Given the description of an element on the screen output the (x, y) to click on. 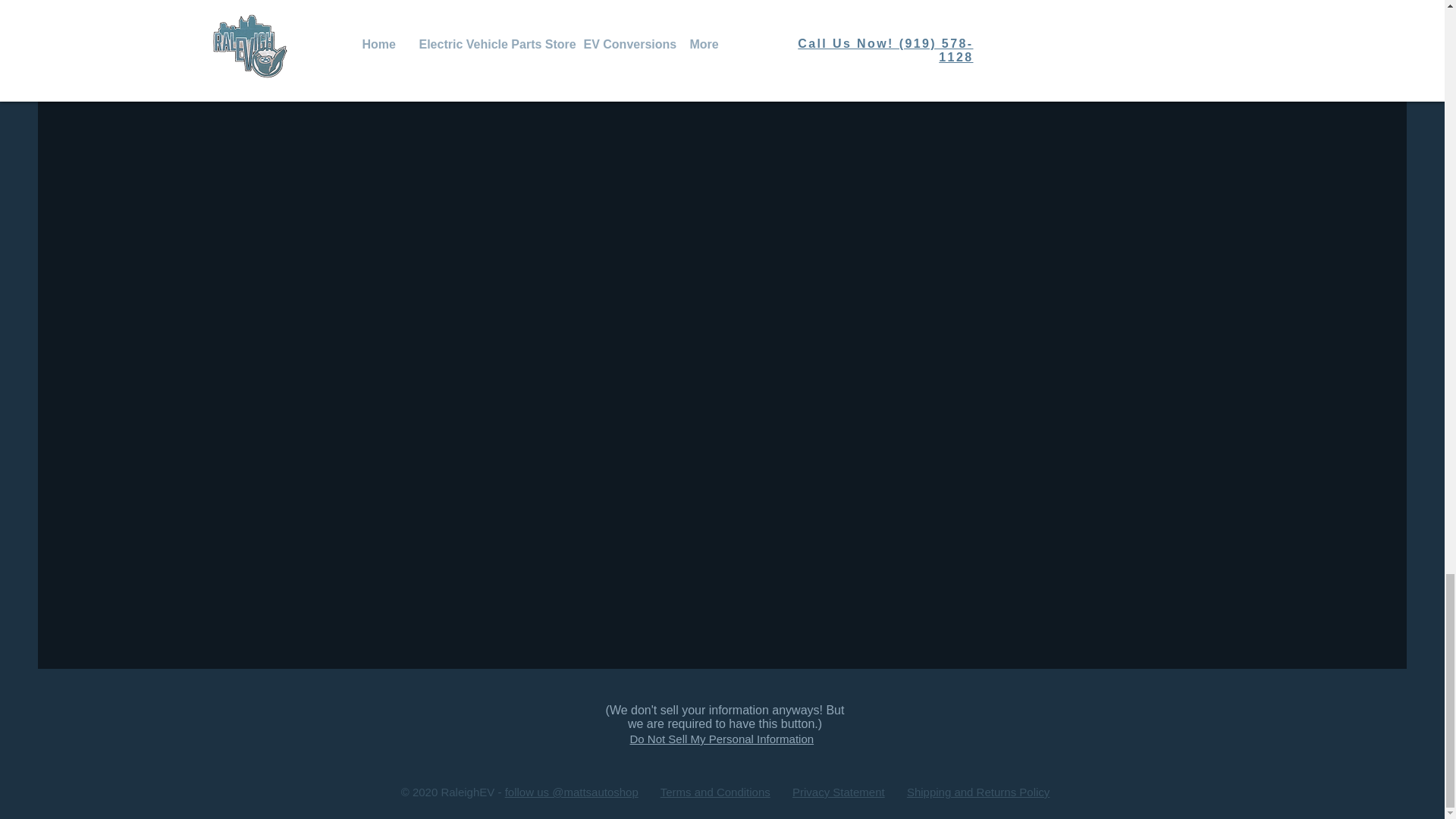
Privacy Statement (838, 791)
Shipping and Returns Policy (978, 791)
Terms and Conditions (715, 791)
Do Not Sell My Personal Information (720, 738)
